Given the description of an element on the screen output the (x, y) to click on. 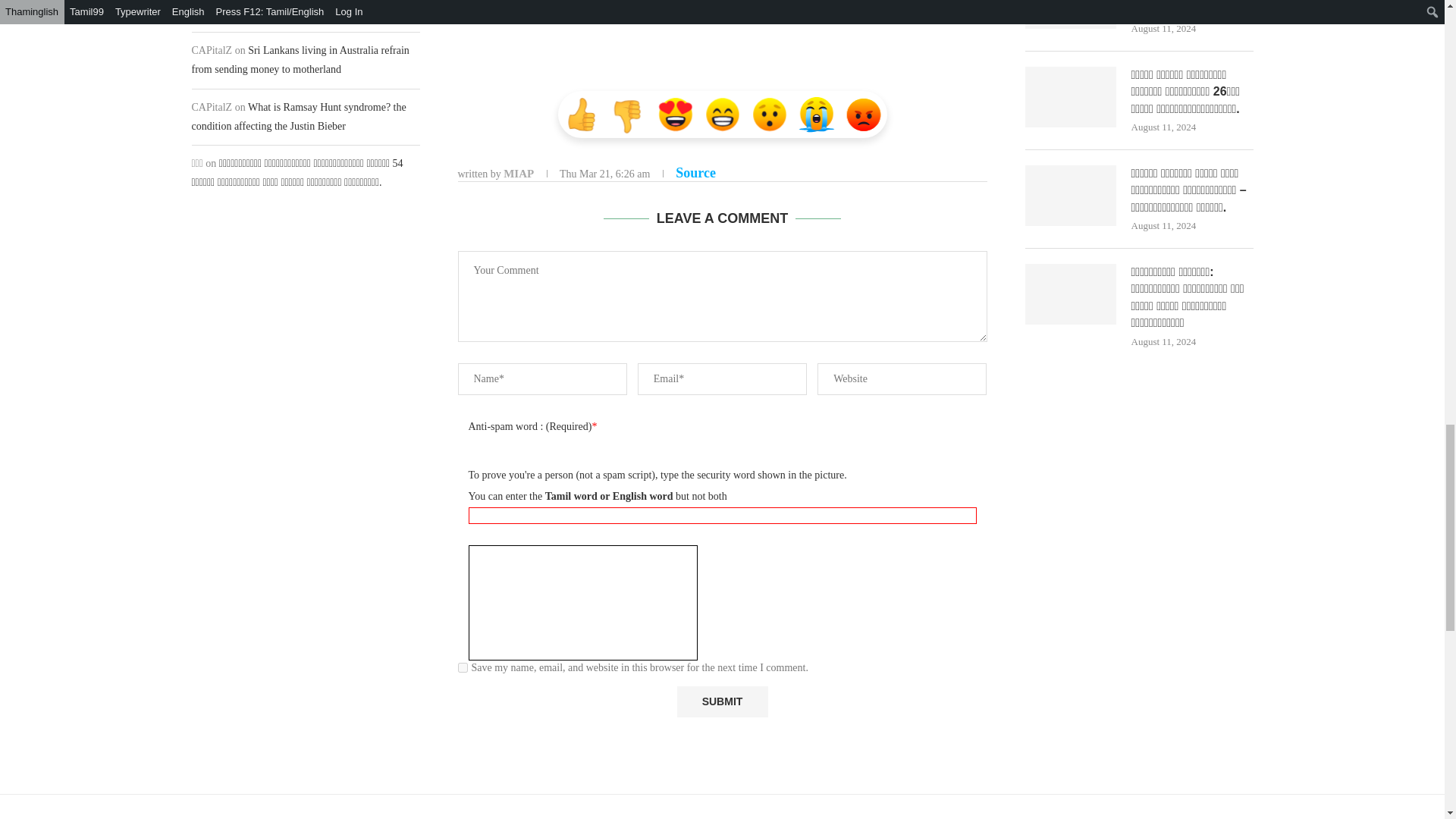
Submit (722, 701)
Submit (722, 701)
yes (462, 667)
Read original story (695, 172)
MIAP (518, 173)
Source (695, 172)
